Given the description of an element on the screen output the (x, y) to click on. 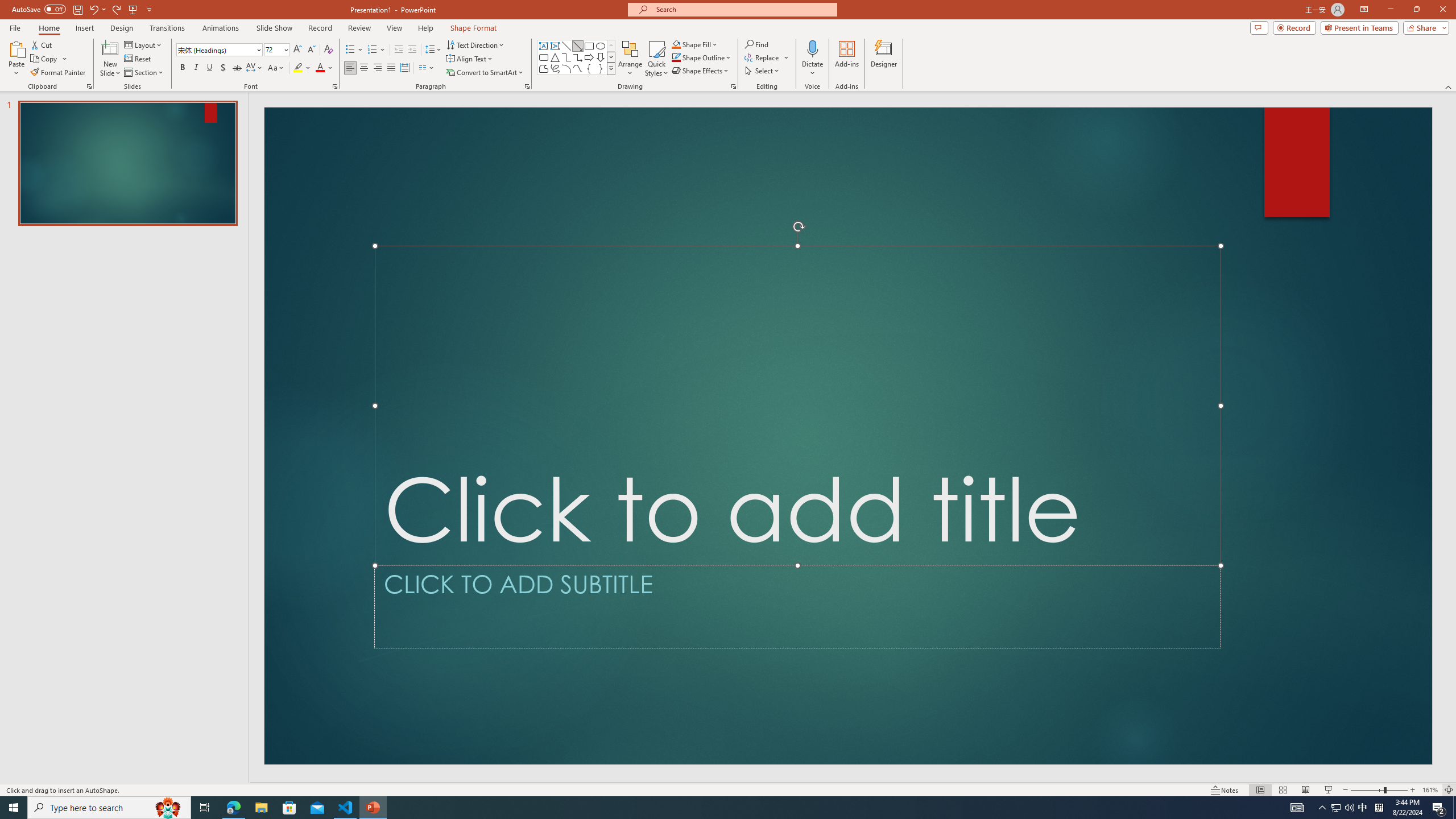
Zoom 161% (1430, 790)
